Given the description of an element on the screen output the (x, y) to click on. 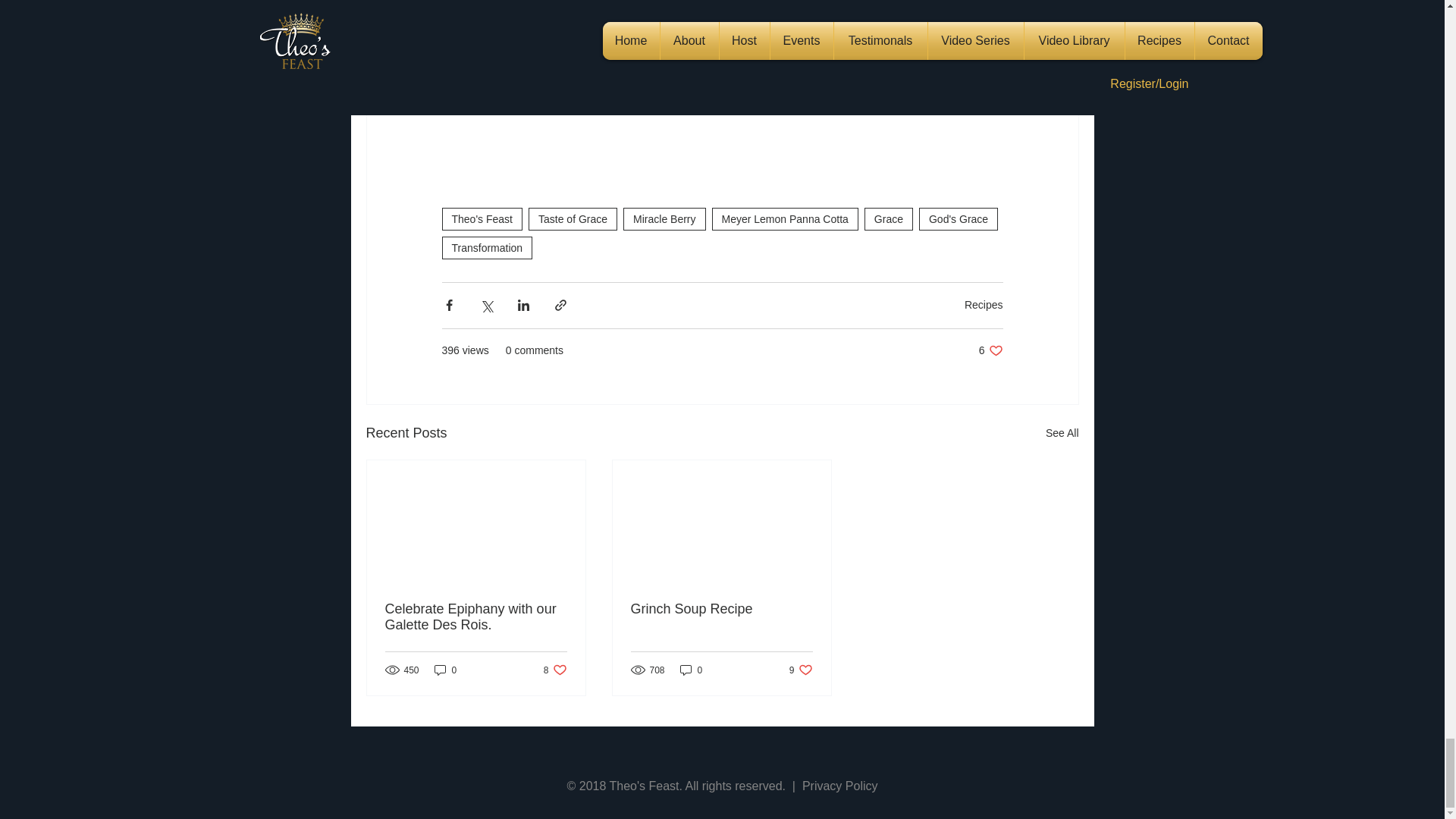
Meyer Lemon Panna Cotta (785, 219)
Recipes (983, 304)
Grace (888, 219)
Miracle Berry (663, 219)
Transformation (486, 247)
God's Grace (957, 219)
See All (1061, 433)
Taste of Grace (990, 350)
Theo's Feast (572, 219)
